Given the description of an element on the screen output the (x, y) to click on. 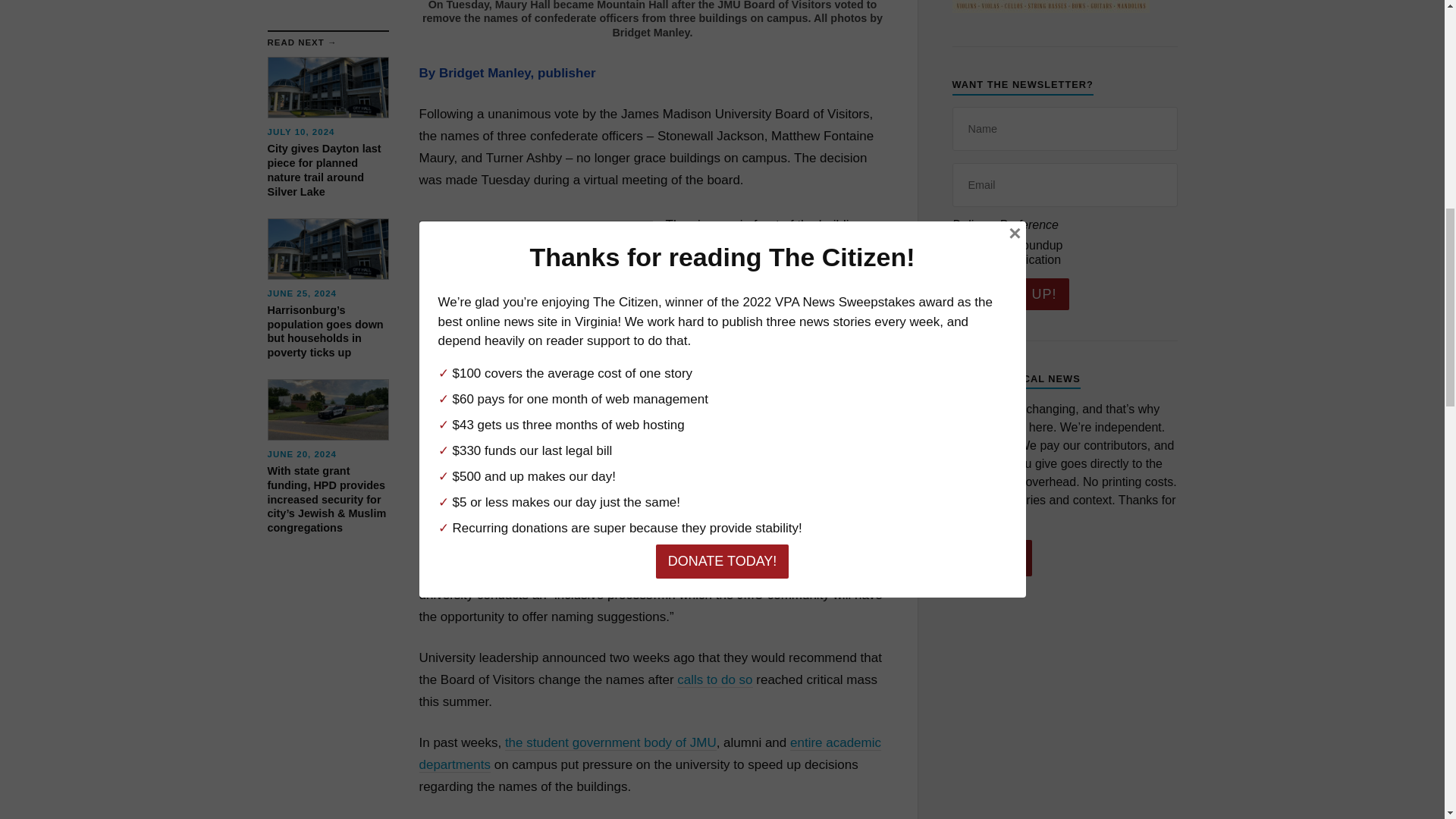
86d305d8aa (960, 244)
the student government body of JMU (610, 743)
Sign me up! (1010, 294)
entire academic departments (649, 754)
3fe0729a7e (960, 258)
calls to do so (714, 679)
